Given the description of an element on the screen output the (x, y) to click on. 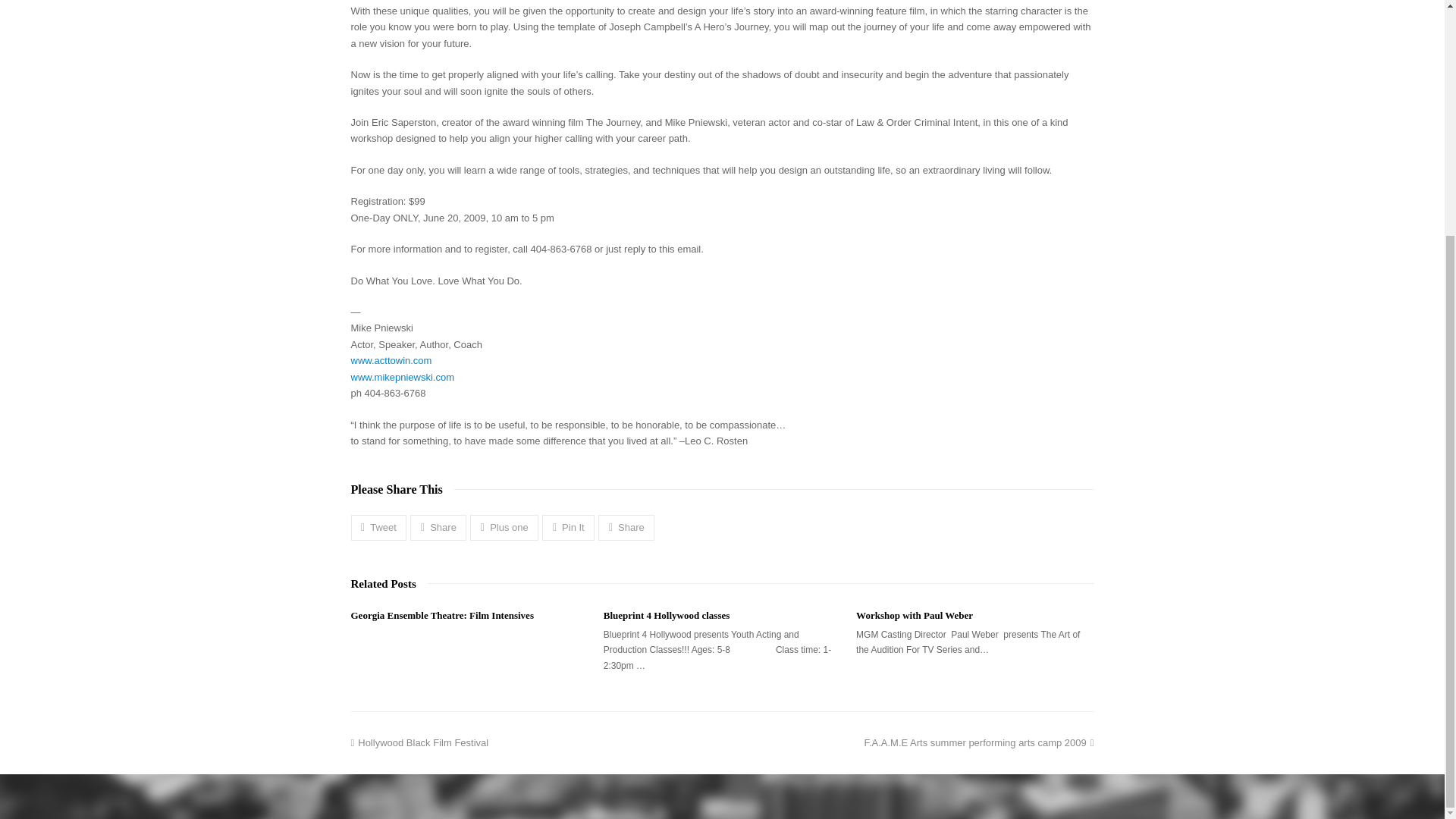
Plus one (504, 527)
Georgia Ensemble Theatre: Film Intensives (441, 614)
Share (978, 742)
www.acttowin.com (625, 527)
Workshop with Paul Weber (390, 360)
Pin It (914, 614)
Share (567, 527)
Tweet (437, 527)
www.mikepniewski.com (378, 527)
Blueprint 4 Hollywood classes (402, 377)
